Given the description of an element on the screen output the (x, y) to click on. 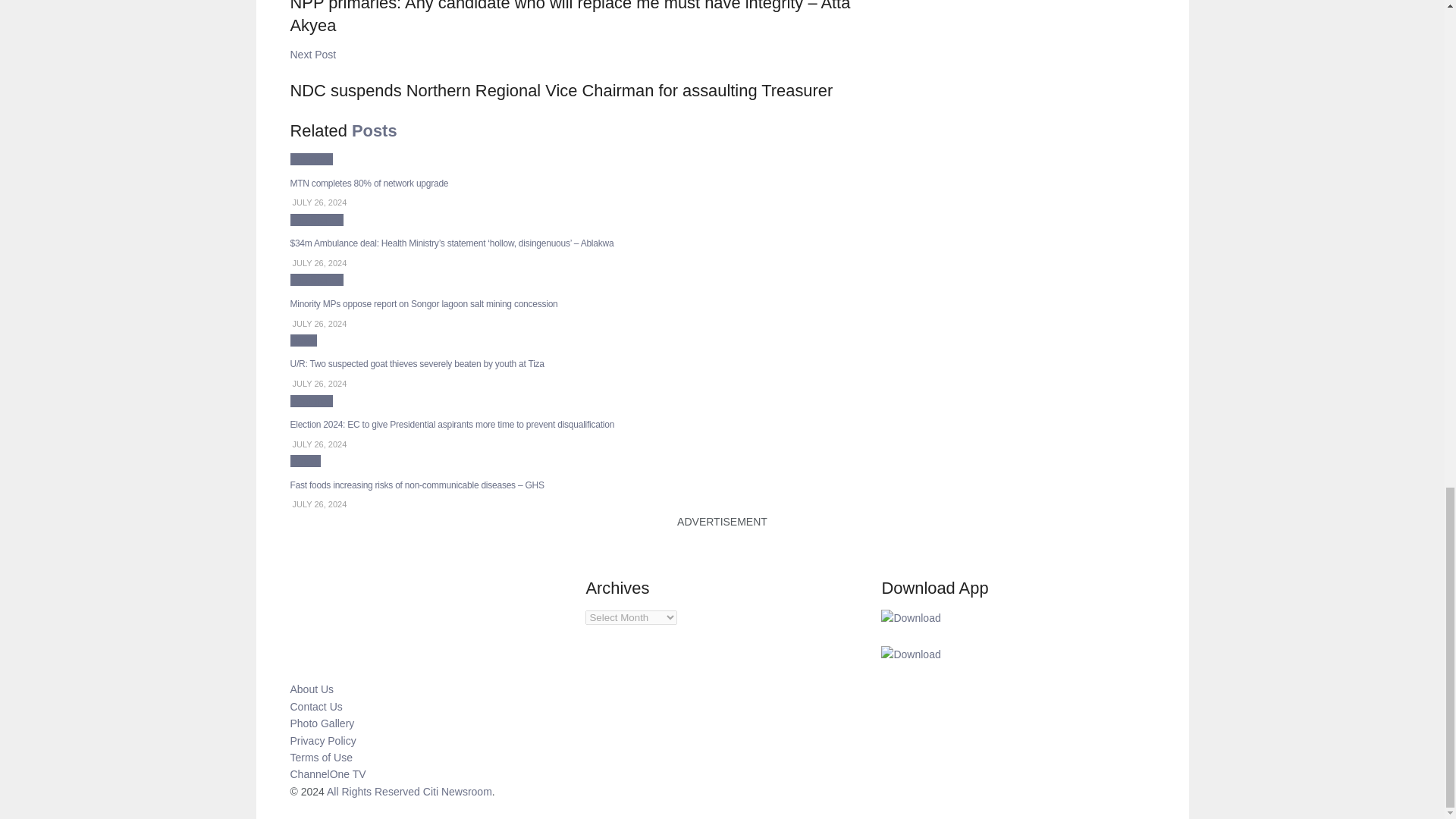
App Store (910, 654)
Citi Newsroom (457, 791)
Citi Newsroom (373, 791)
Google Play (910, 617)
